Given the description of an element on the screen output the (x, y) to click on. 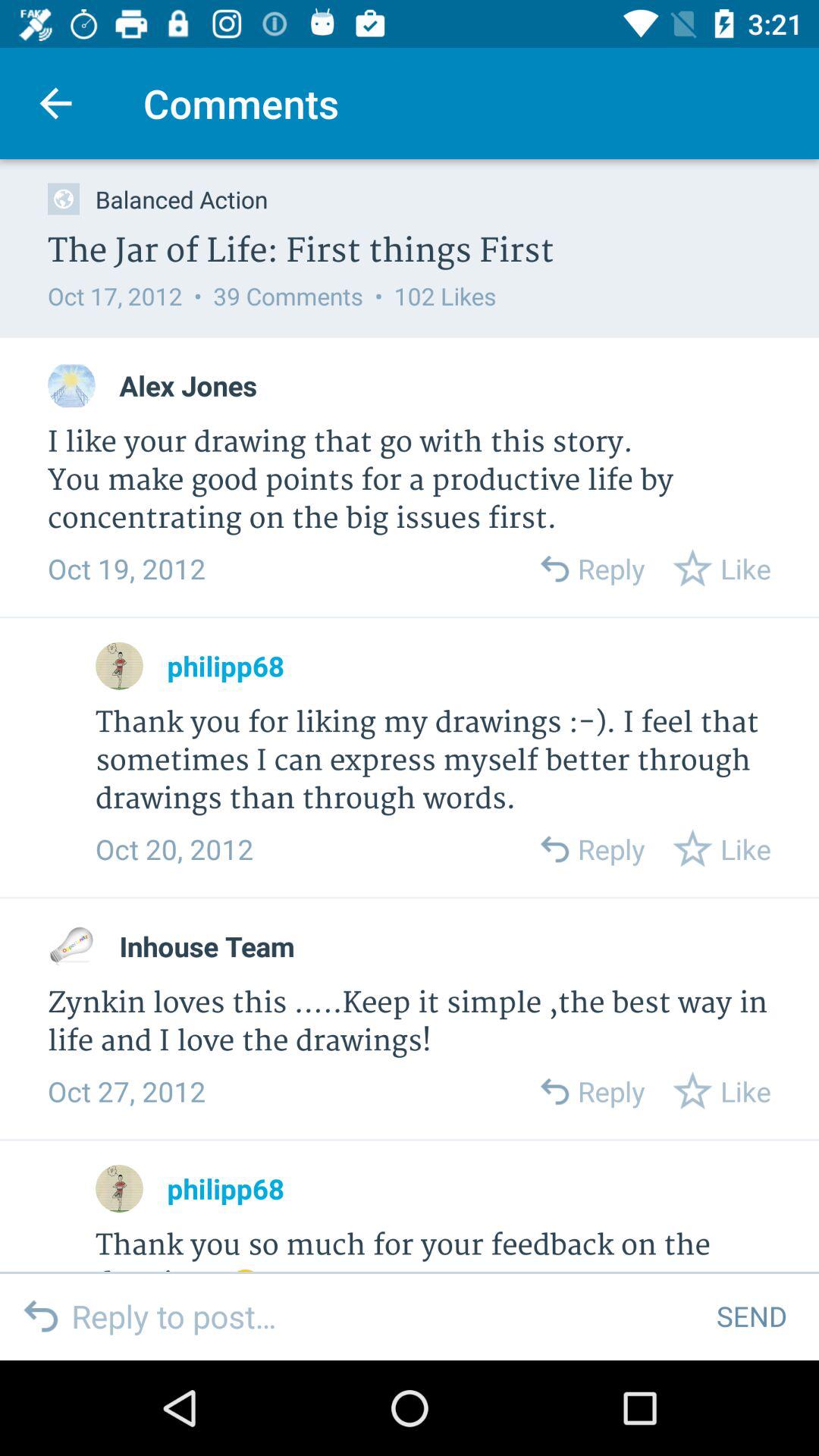
highlight (71, 946)
